Given the description of an element on the screen output the (x, y) to click on. 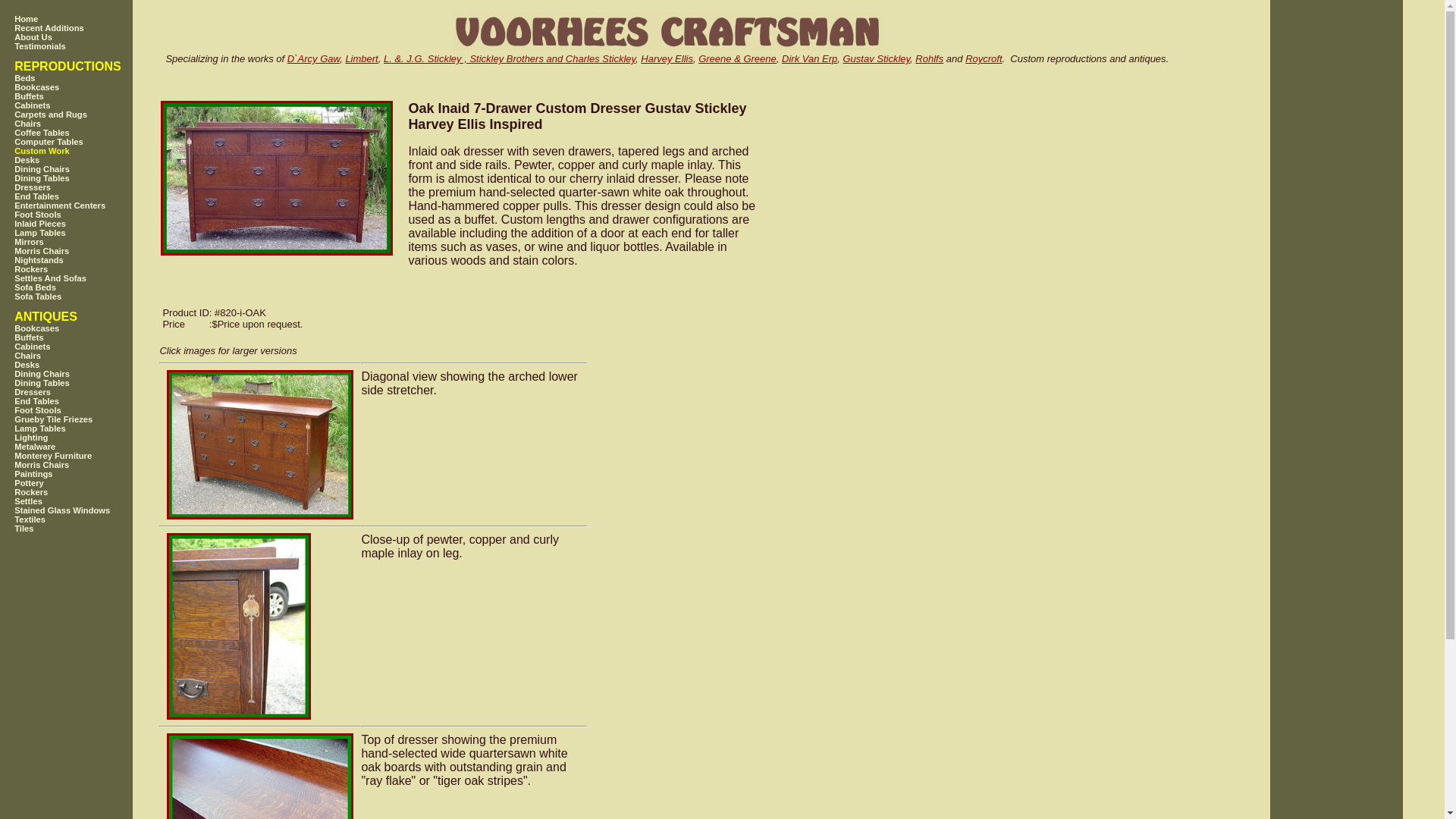
Coffee Tables (82, 132)
Desks (82, 159)
Carpets and Rugs (82, 113)
End Tables (82, 400)
Computer Tables (82, 141)
Entertainment Centers (82, 204)
Dressers (82, 186)
Custom Work (82, 150)
Sofa Beds (82, 286)
Foot Stools (82, 214)
